Given the description of an element on the screen output the (x, y) to click on. 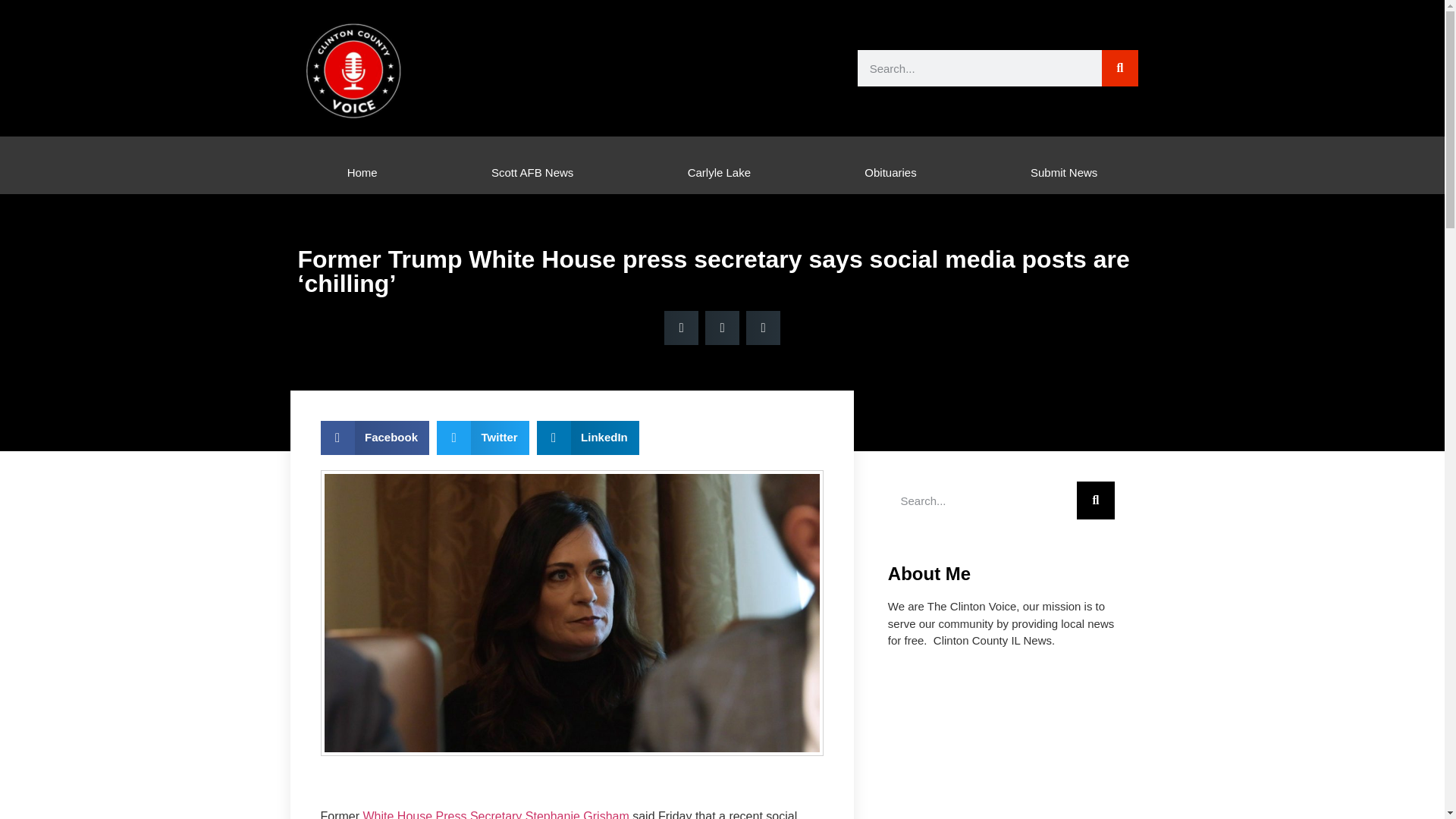
Home (361, 172)
Scott AFB News (531, 172)
Obituaries (891, 172)
White House Press Secretary Stephanie Grisham (495, 814)
Submit News (1064, 172)
Carlyle Lake (719, 172)
